Given the description of an element on the screen output the (x, y) to click on. 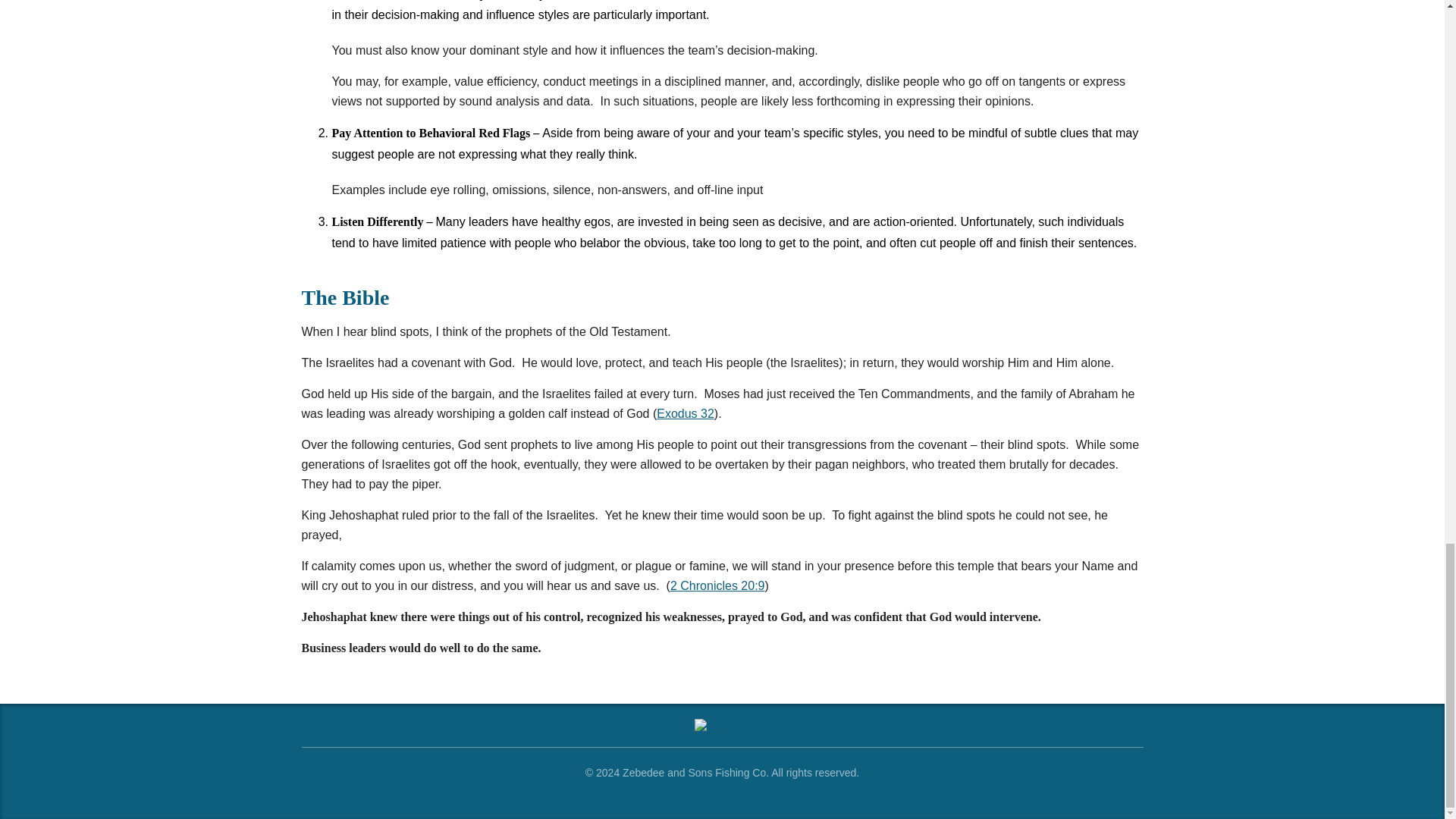
Exodus 32 (685, 413)
2 Chronicles 20:9 (717, 585)
